Given the description of an element on the screen output the (x, y) to click on. 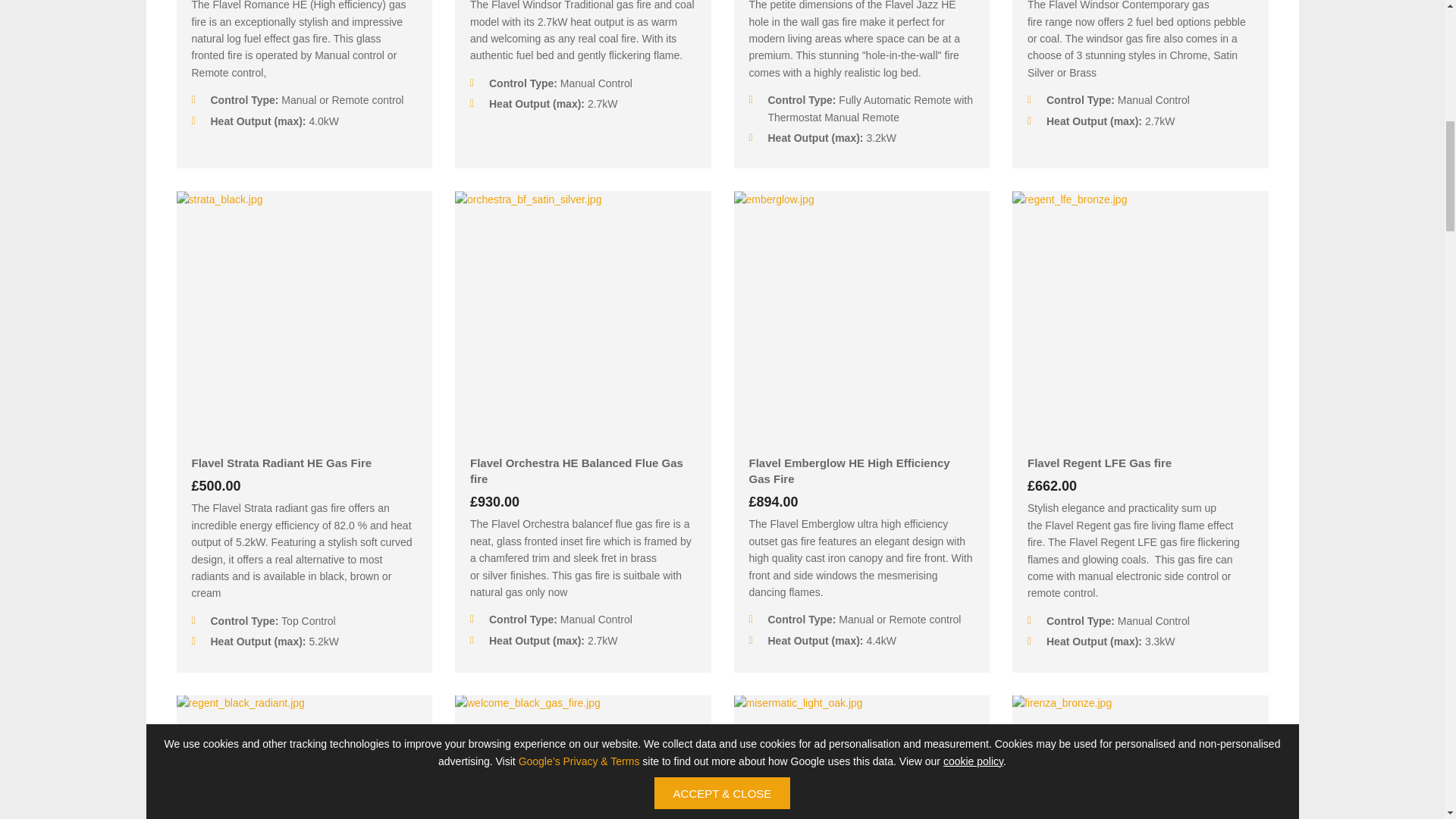
Flavel Emberglow HE High Efficiency Gas Fire (862, 470)
Flavel Orchestra HE Balanced Flue Gas fire (582, 470)
Flavel Regent Radiant HE gas fire (304, 757)
Flavel Orchestra HE Balanced Flue Gas fire (582, 318)
Flavel Strata Radiant HE Gas Fire (304, 318)
Flavel Emberglow HE High Efficiency Gas Fire (861, 318)
Flavel Strata Radiant HE Gas Fire (303, 462)
Flavel Welcome Radiant HE Gas Fire (582, 757)
